Given the description of an element on the screen output the (x, y) to click on. 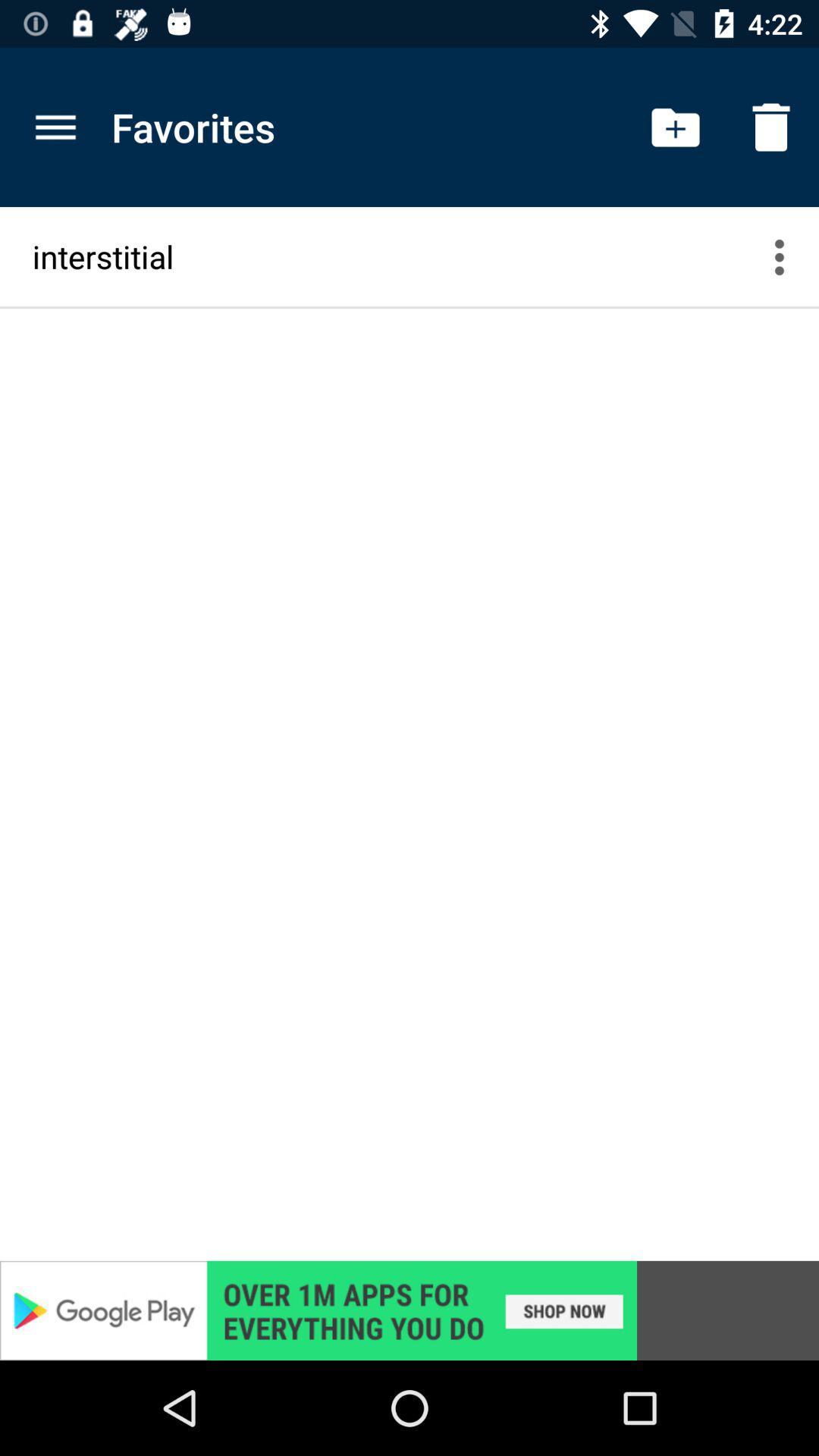
more option (789, 256)
